Given the description of an element on the screen output the (x, y) to click on. 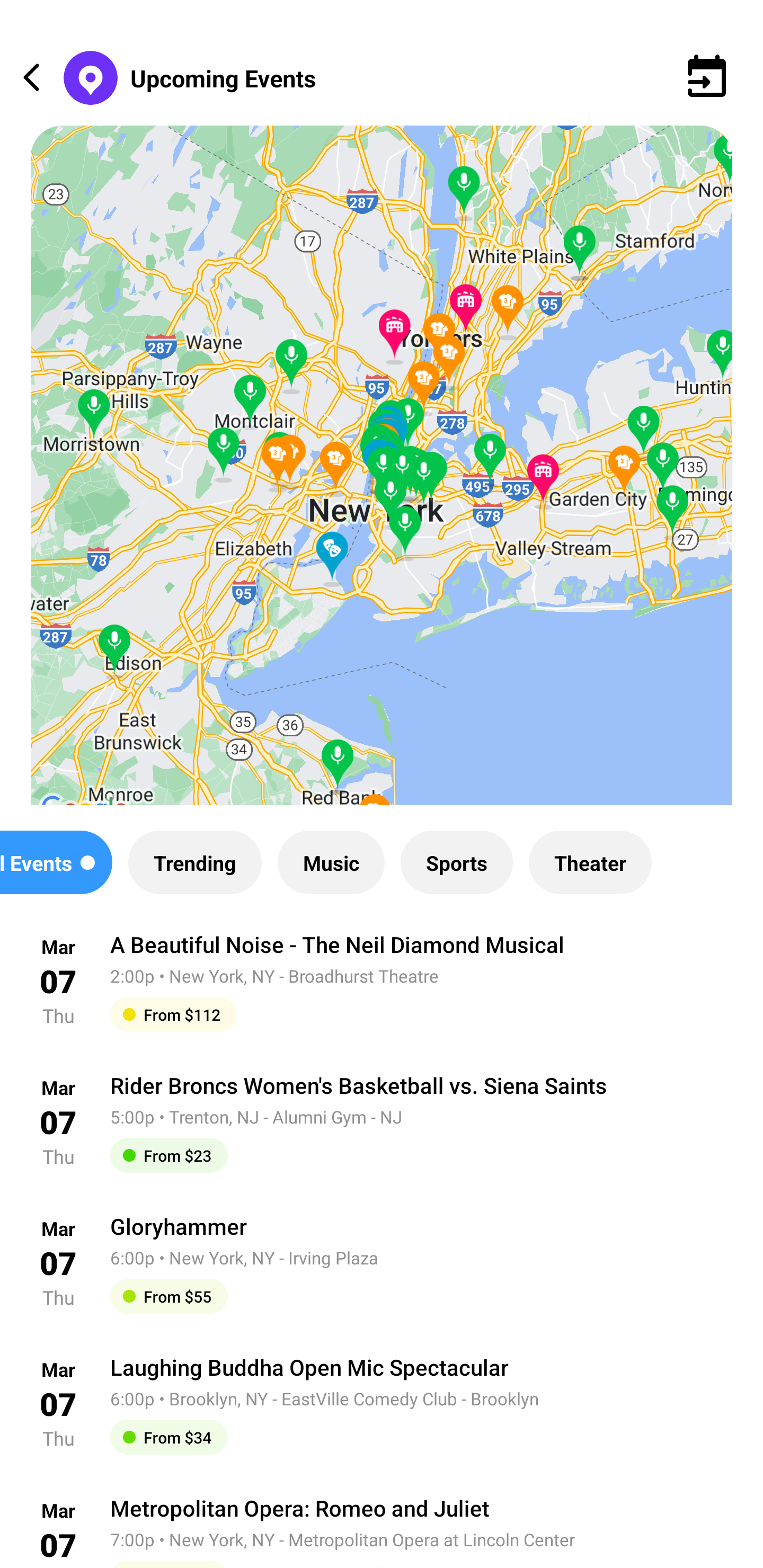
Trending (194, 862)
Music (330, 862)
Sports (456, 862)
Theater (589, 862)
